Given the description of an element on the screen output the (x, y) to click on. 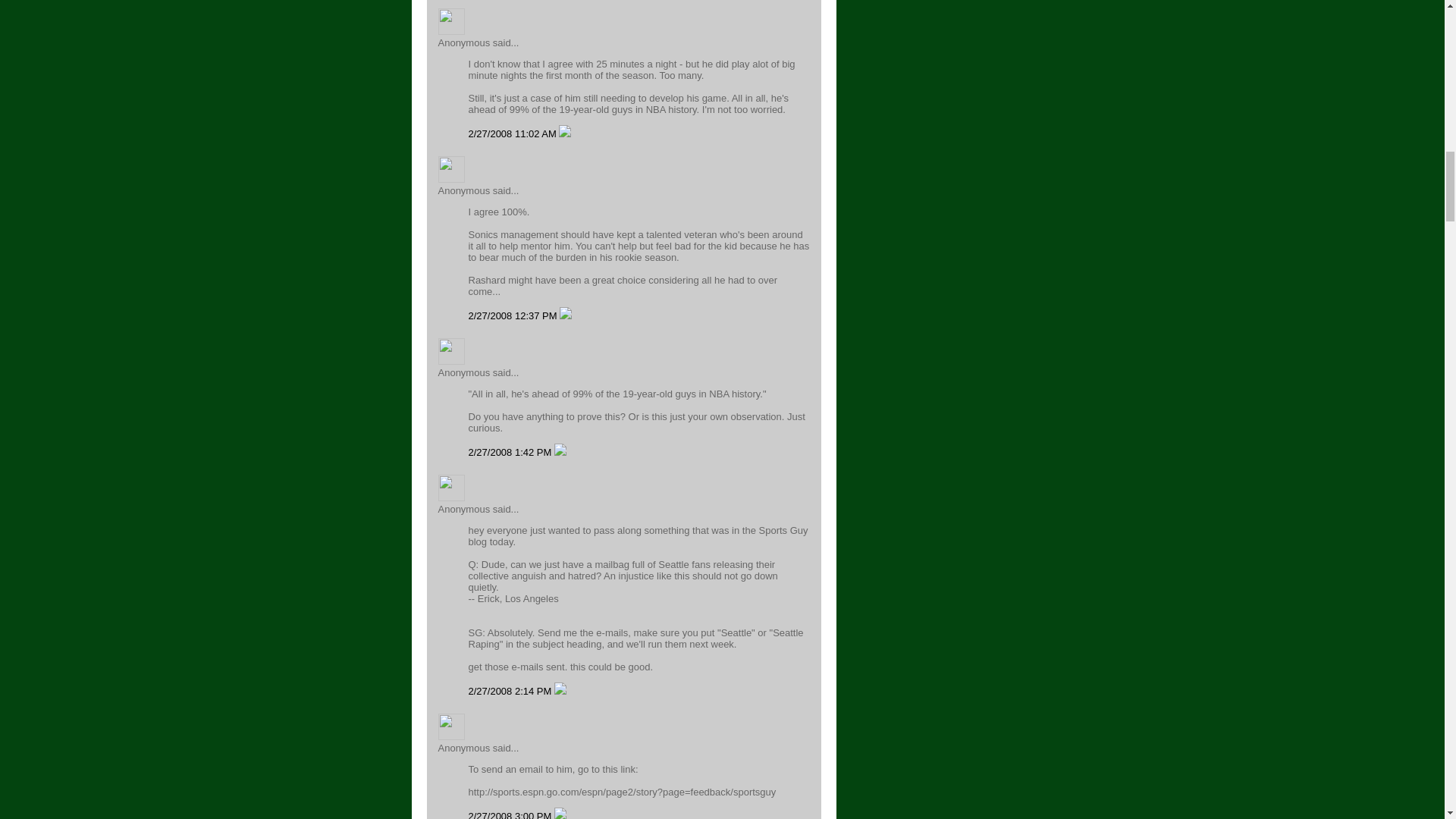
Delete Comment (564, 133)
comment permalink (513, 133)
Anonymous (451, 169)
Anonymous (451, 21)
